Given the description of an element on the screen output the (x, y) to click on. 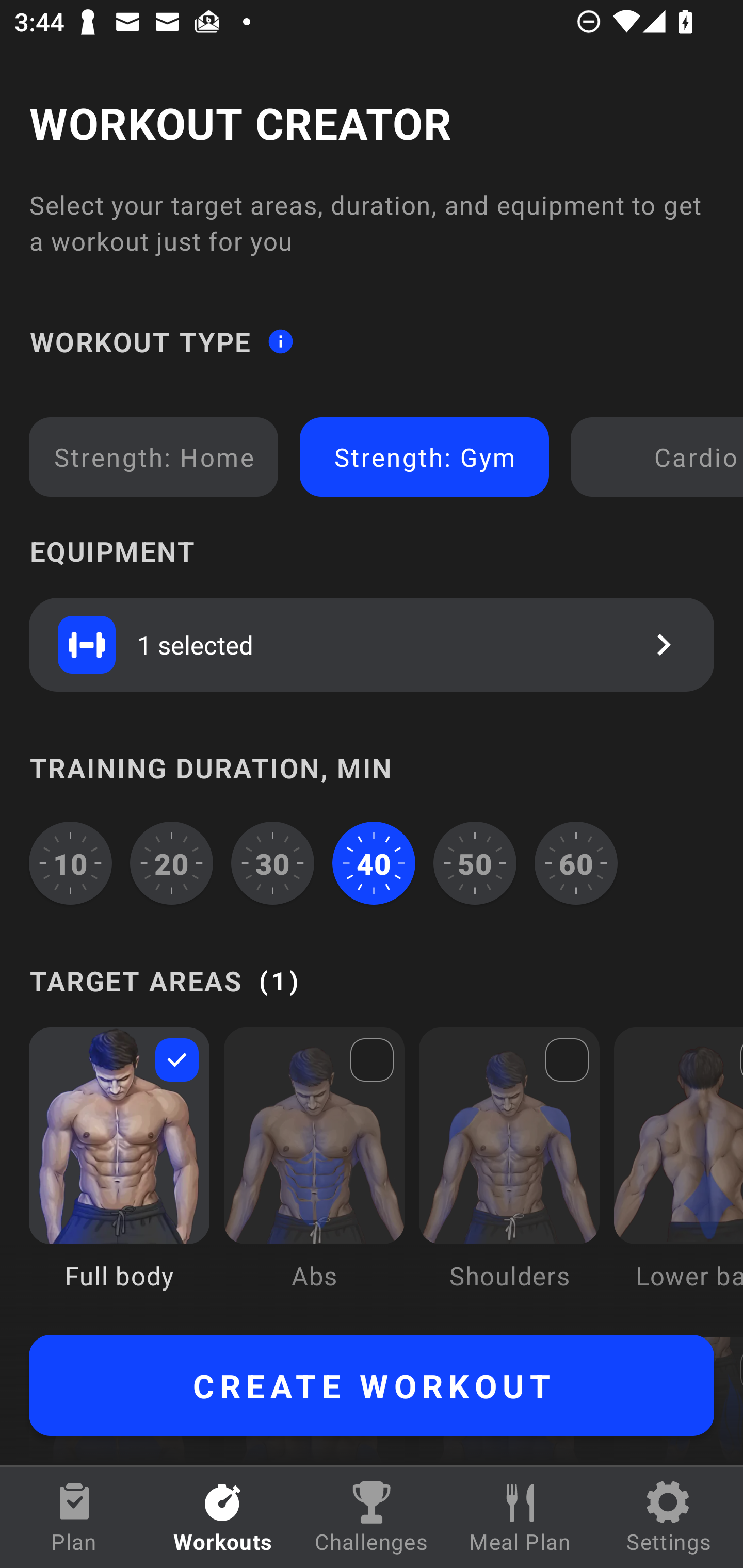
Workout type information button (280, 340)
Strength: Home (153, 457)
Cardio (660, 457)
1 selected (371, 644)
10 (70, 863)
20 (171, 863)
30 (272, 863)
40 (373, 863)
50 (474, 863)
60 (575, 863)
Abs (313, 1172)
Shoulders (509, 1172)
Lower back (678, 1172)
CREATE WORKOUT (371, 1385)
 Plan  (74, 1517)
 Challenges  (371, 1517)
 Meal Plan  (519, 1517)
 Settings  (668, 1517)
